Given the description of an element on the screen output the (x, y) to click on. 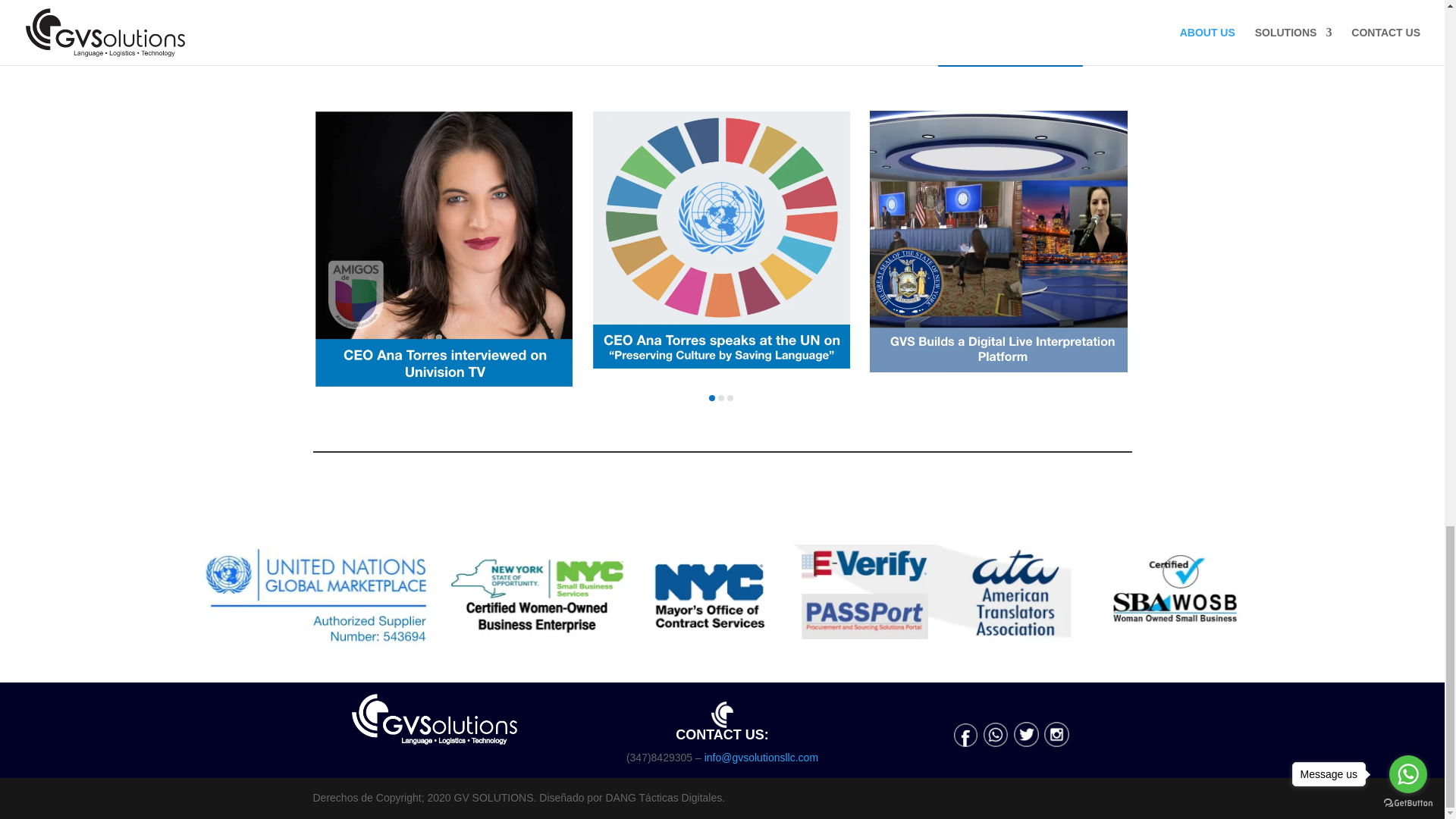
CONTACT US: (721, 721)
More Information (433, 47)
More Information (1010, 48)
More Information (721, 28)
